Given the description of an element on the screen output the (x, y) to click on. 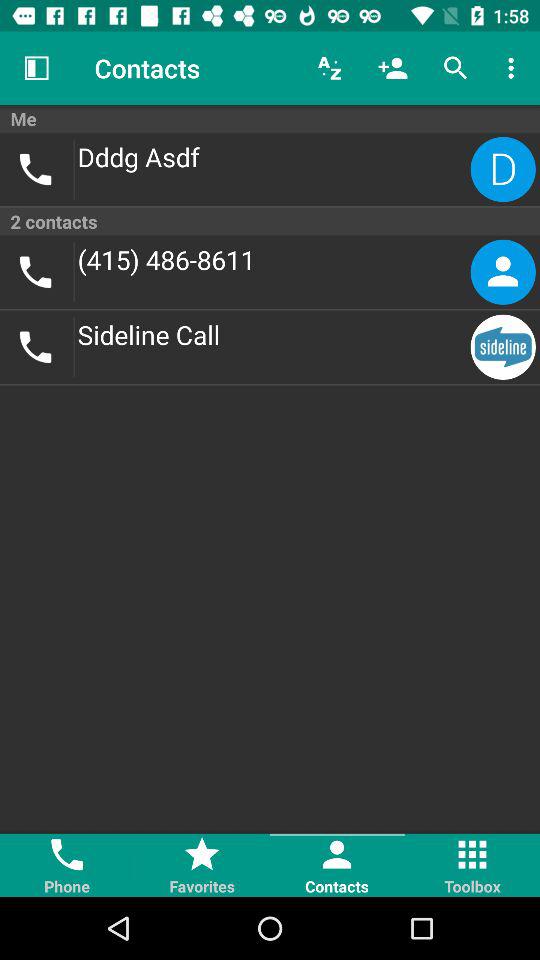
click item above me icon (455, 67)
